Given the description of an element on the screen output the (x, y) to click on. 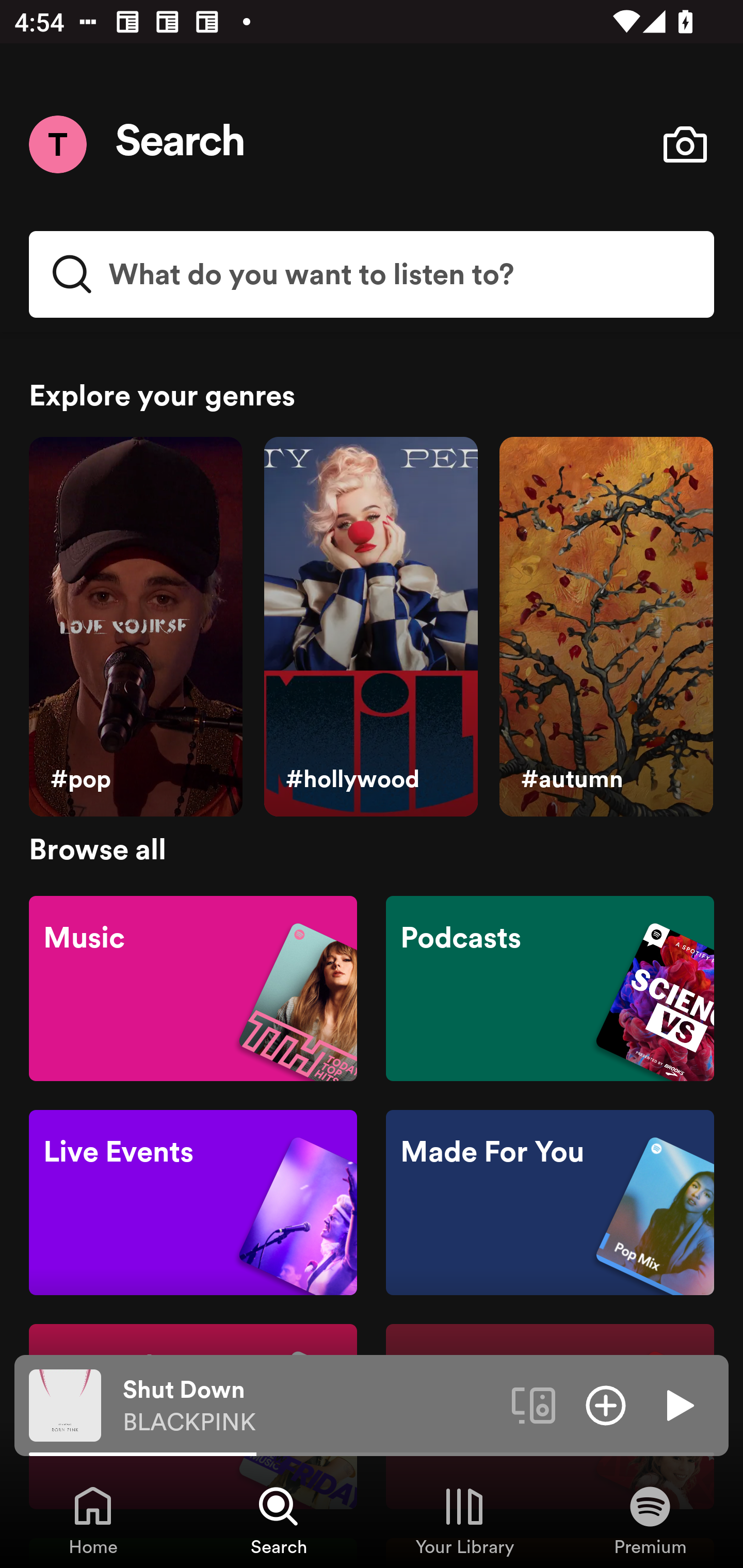
Menu (57, 144)
Open camera (685, 145)
Search (180, 144)
#pop (135, 626)
#hollywood (370, 626)
#autumn (606, 626)
Music (192, 987)
Podcasts (549, 987)
Live Events (192, 1202)
Made For You (549, 1202)
Shut Down BLACKPINK (309, 1405)
The cover art of the currently playing track (64, 1404)
Connect to a device. Opens the devices menu (533, 1404)
Add item (605, 1404)
Play (677, 1404)
Home, Tab 1 of 4 Home Home (92, 1519)
Search, Tab 2 of 4 Search Search (278, 1519)
Your Library, Tab 3 of 4 Your Library Your Library (464, 1519)
Premium, Tab 4 of 4 Premium Premium (650, 1519)
